Given the description of an element on the screen output the (x, y) to click on. 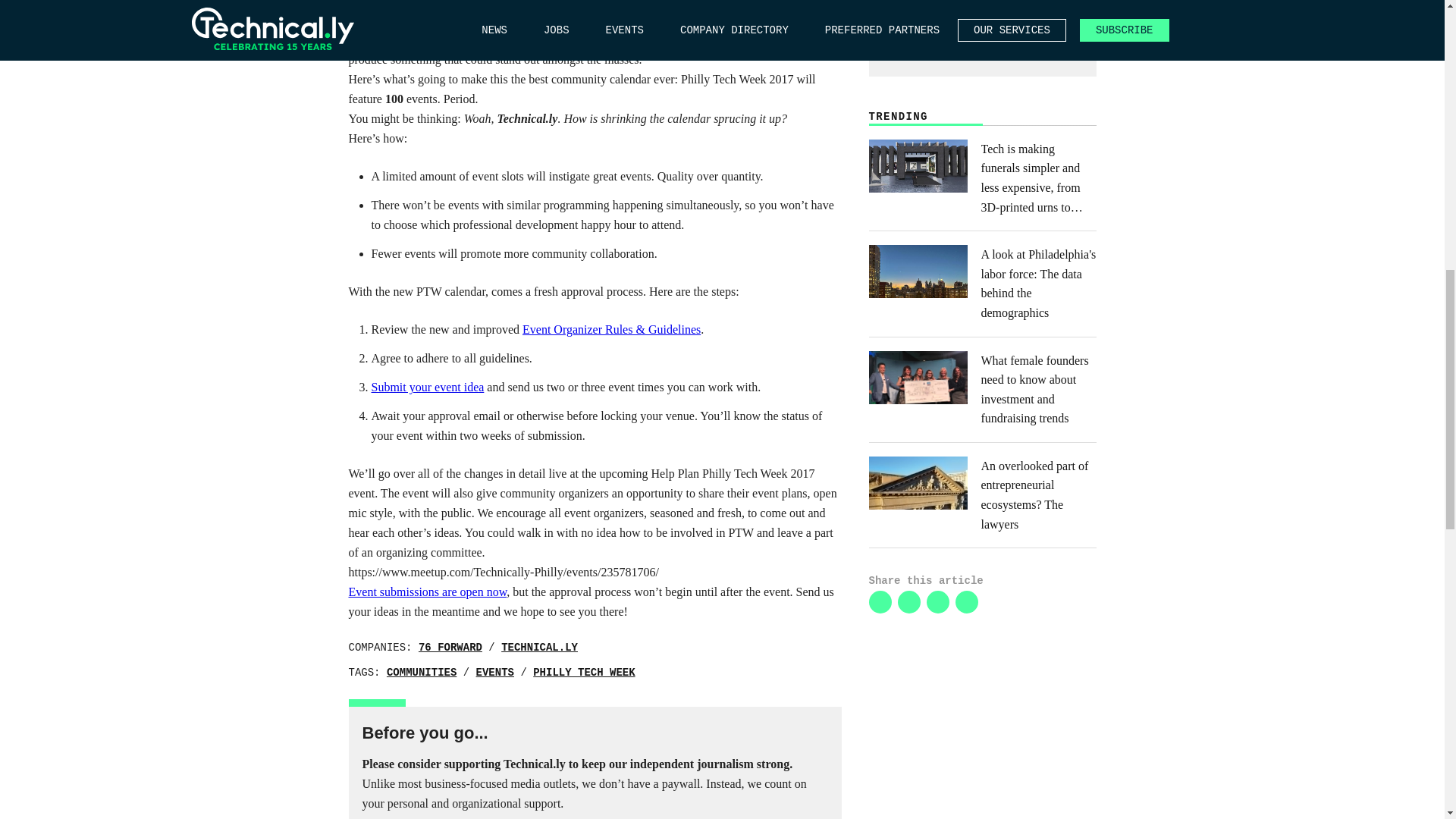
76 Forward (450, 647)
PHILLY TECH WEEK (583, 672)
Event submissions are open now (427, 591)
Technical.ly (539, 647)
EVENTS (494, 672)
Share to LinkedIn (880, 601)
